Given the description of an element on the screen output the (x, y) to click on. 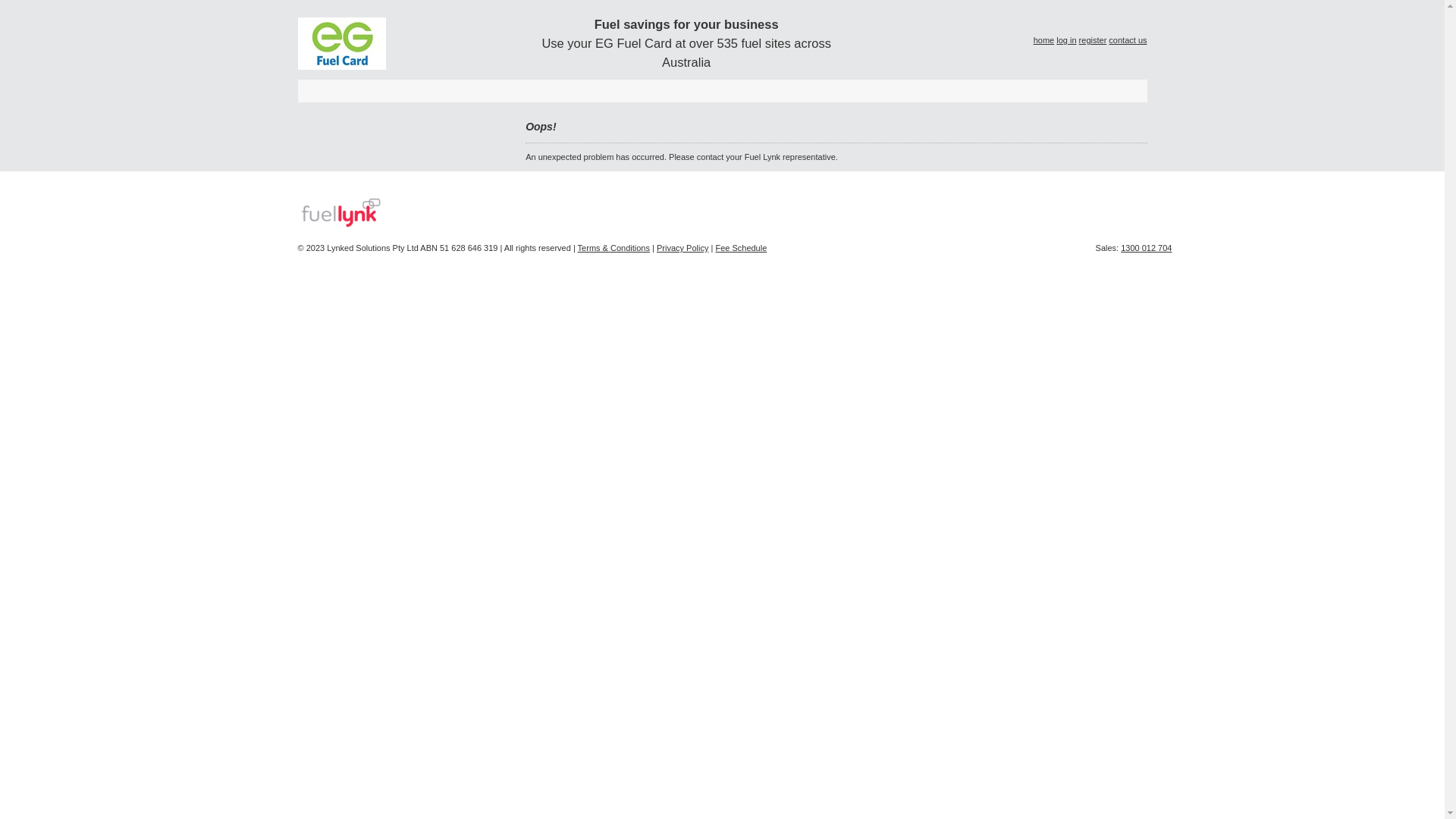
Terms & Conditions Element type: text (613, 247)
register Element type: text (1093, 39)
home Element type: text (1043, 39)
contact us Element type: text (1127, 39)
Privacy Policy Element type: text (682, 247)
1300 012 704 Element type: text (1145, 247)
log in Element type: text (1066, 39)
Fee Schedule Element type: text (740, 247)
